Given the description of an element on the screen output the (x, y) to click on. 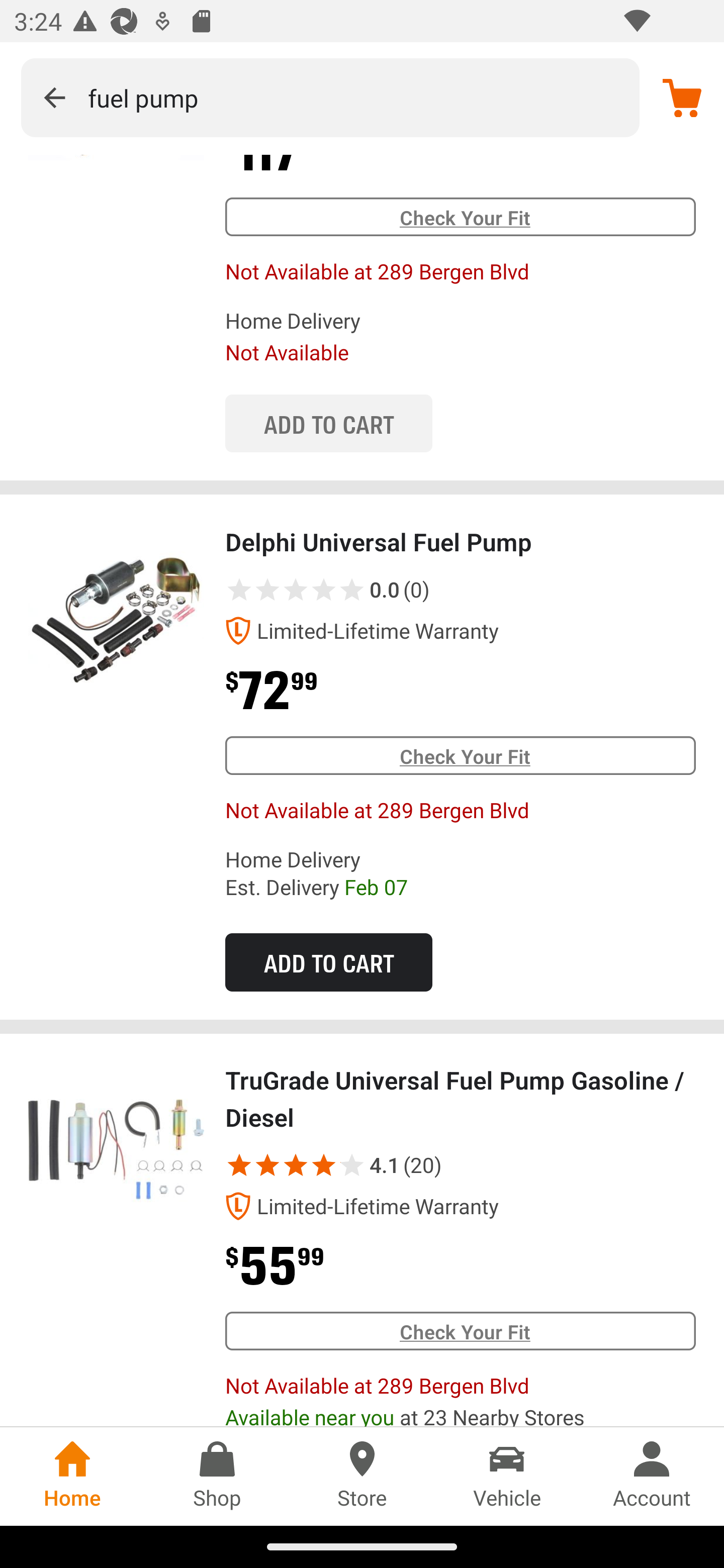
Find parts and products  fuel pump (330, 97)
 (54, 97)
Cart, no items  (681, 97)
Check your fit Check Your Fit (460, 216)
Add to cart ADD TO CART (328, 423)
Delphi Universal Fuel Pump (116, 611)
Press to rate 1 out of 5  (239, 589)
Press to rate 2 out of 5  (267, 589)
Press to rate 3 out of 5  (295, 589)
Press to rate 4 out of 5  (323, 589)
Press to rate 5 out of 5  (352, 589)
Check your fit Check Your Fit (460, 755)
Add to cart ADD TO CART (328, 961)
TruGrade Universal Fuel Pump Gasoline / Diesel (116, 1149)
 (239, 1164)
 (267, 1164)
 (295, 1164)
 (323, 1164)
 (339, 1164)
Check your fit Check Your Fit (460, 1331)
Home (72, 1475)
Shop (216, 1475)
Store (361, 1475)
Vehicle (506, 1475)
Account (651, 1475)
